Given the description of an element on the screen output the (x, y) to click on. 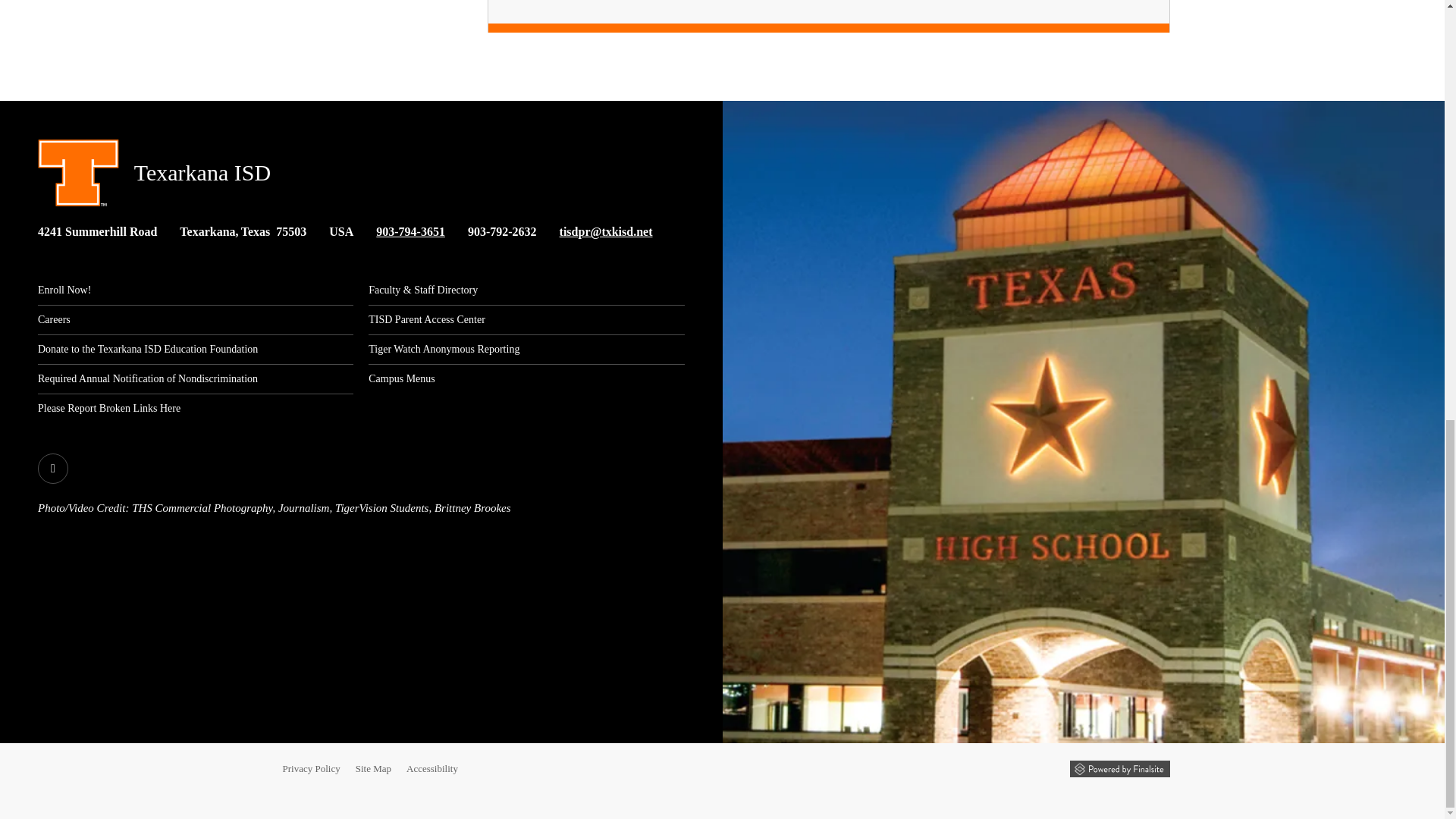
Powered by Finalsite opens in a new window (1118, 768)
Email (605, 231)
